Given the description of an element on the screen output the (x, y) to click on. 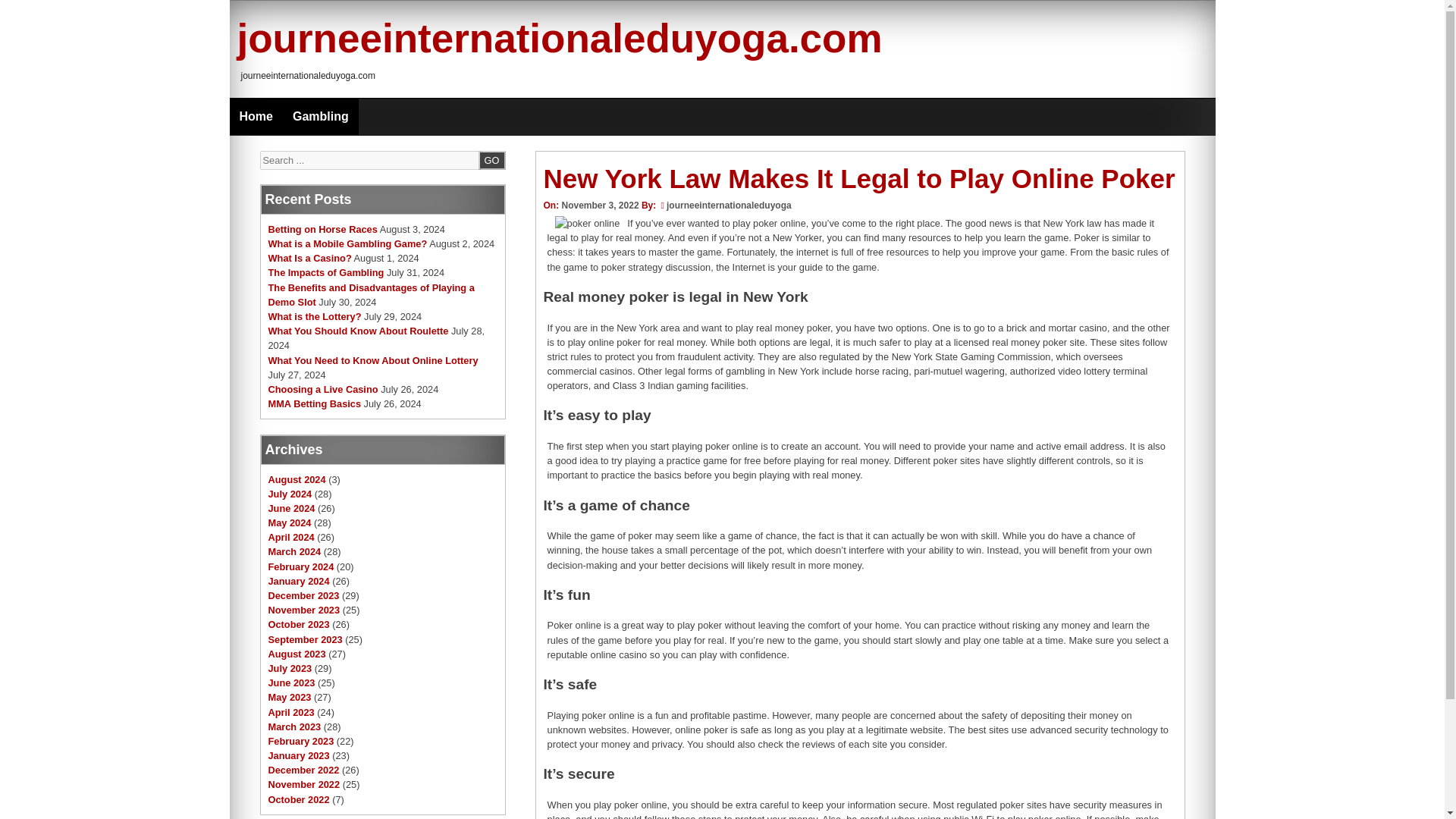
July 2024 (290, 493)
November 3, 2022 (599, 204)
The Impacts of Gambling (325, 272)
March 2024 (294, 551)
GO (492, 158)
May 2023 (289, 696)
GO (492, 158)
October 2023 (298, 624)
GO (492, 158)
Choosing a Live Casino (322, 389)
February 2023 (300, 740)
December 2023 (303, 595)
The Benefits and Disadvantages of Playing a Demo Slot (370, 294)
What Is a Casino? (309, 257)
Gambling (320, 116)
